Given the description of an element on the screen output the (x, y) to click on. 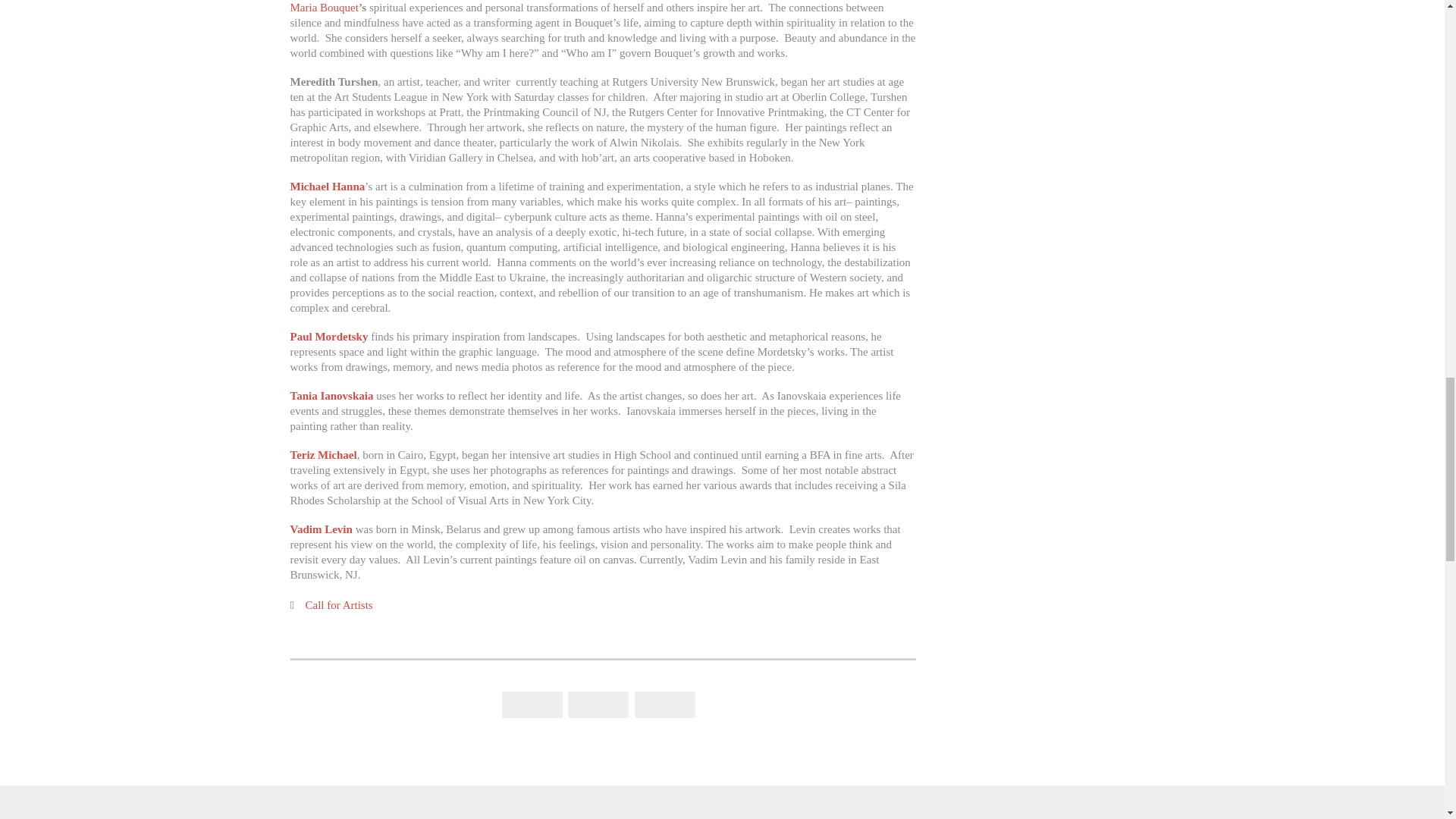
Share on Facebook (532, 703)
Share on Google Plus (664, 703)
Share on Twitter (597, 703)
